Given the description of an element on the screen output the (x, y) to click on. 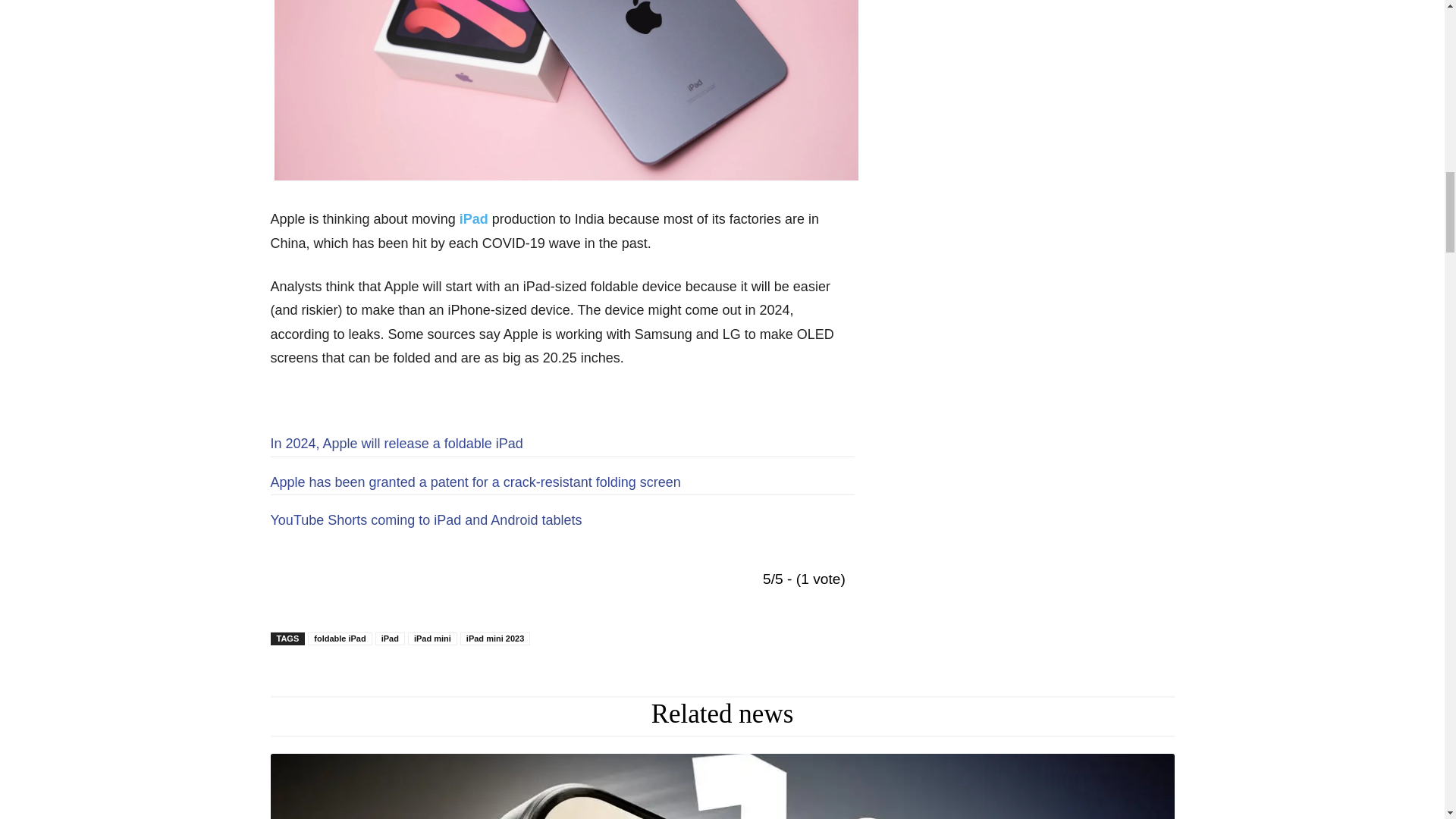
iPad (473, 218)
In 2024, Apple will release a foldable iPad (395, 443)
In 2024, Apple will release a foldable iPad (395, 443)
